Given the description of an element on the screen output the (x, y) to click on. 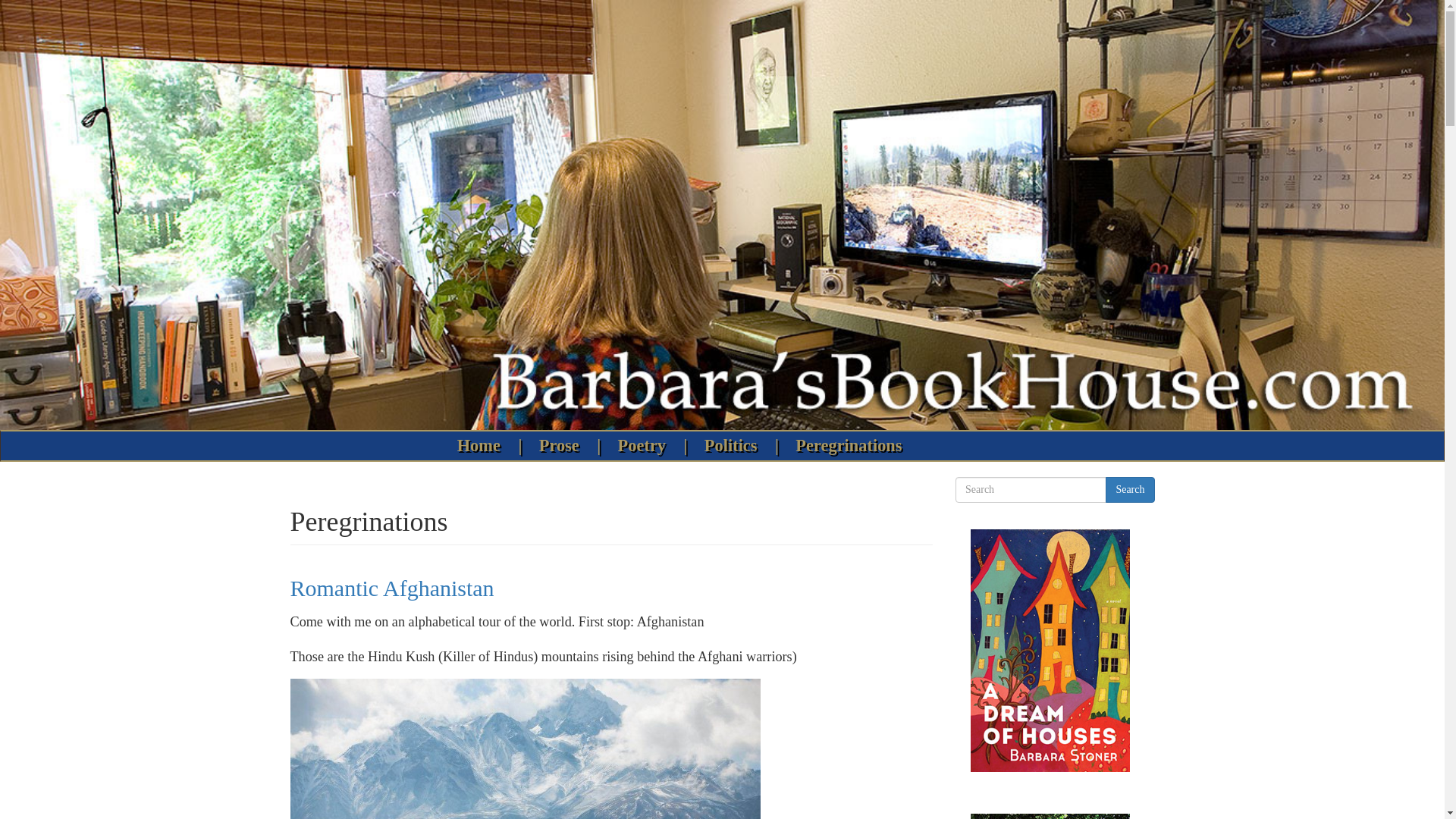
Peregrinations (848, 445)
Prose (563, 445)
Romantic Afghanistan (391, 587)
Home (481, 445)
Politics (734, 445)
Poetry (645, 445)
